Given the description of an element on the screen output the (x, y) to click on. 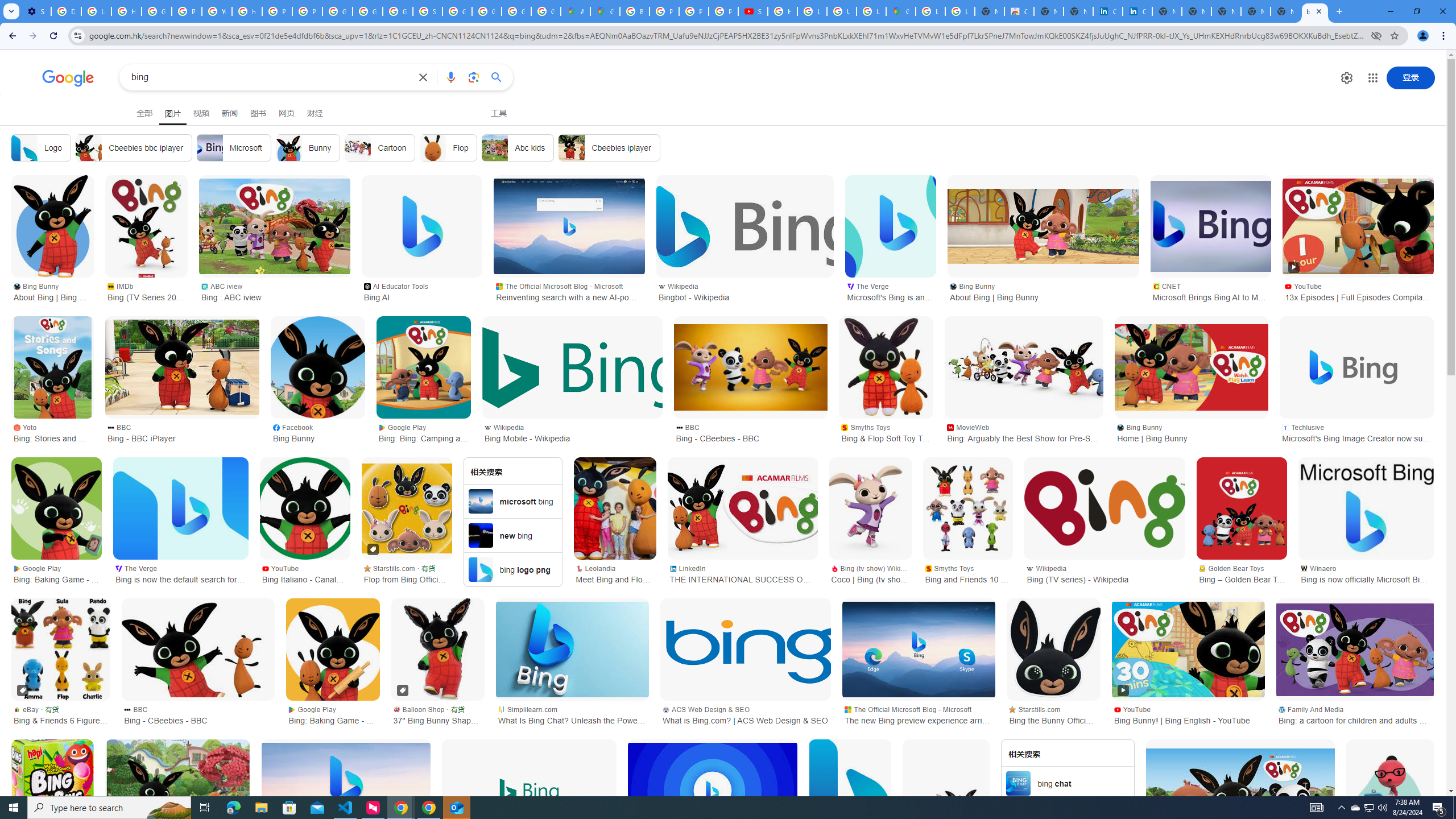
Flop from Bing Official 2D Card Party Mask (406, 508)
Learn how to find your photos - Google Photos Help (95, 11)
Bing: Arguably the Best Show for Pre-Schoolers (1023, 367)
Bingbot - Wikipedia (744, 225)
Bing and Friends 10 Piece Figurine Gift Set | Smyths Toys UK (968, 508)
YouTube (216, 11)
